Given the description of an element on the screen output the (x, y) to click on. 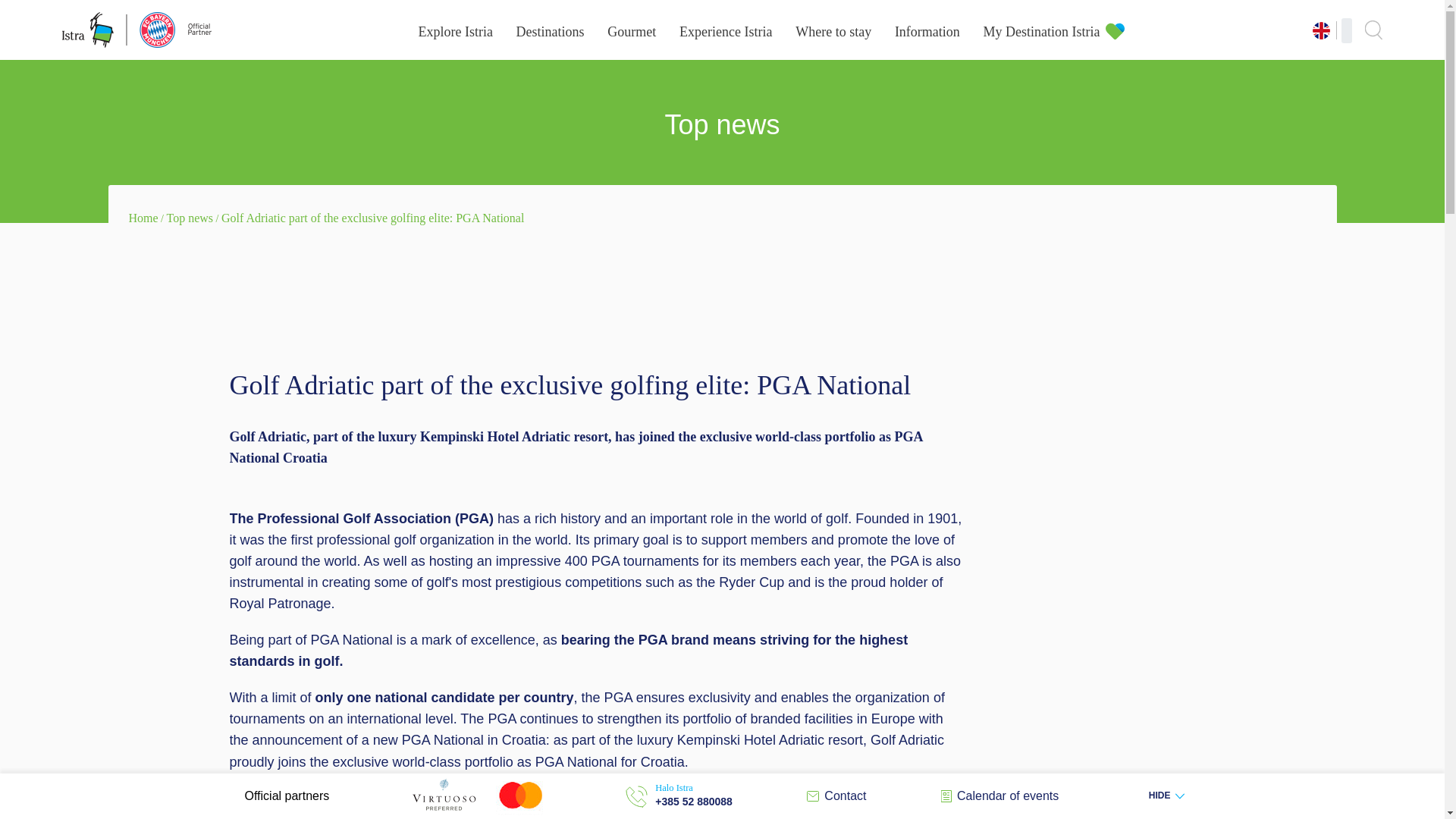
Information (927, 31)
Golf Adriatic (269, 798)
My Destination Istria (1042, 31)
Experience Istria (725, 31)
Top news (190, 217)
Where to stay (832, 31)
Gourmet (631, 31)
Explore Istria (454, 31)
Home (143, 217)
Destinations (550, 31)
